Given the description of an element on the screen output the (x, y) to click on. 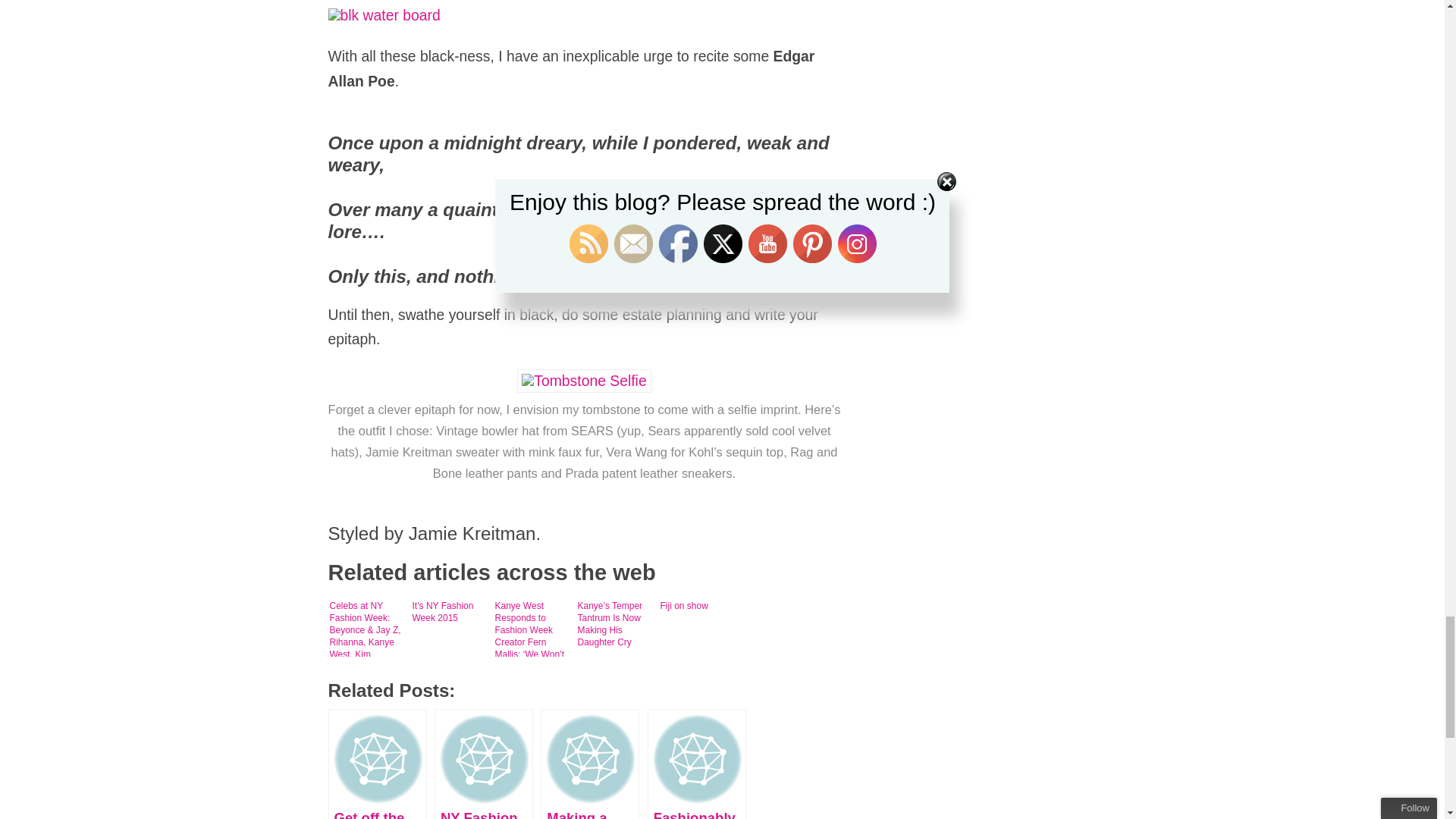
Fashionably frozen at NY Fall Fashion Week (696, 764)
Making a Blanket Statement at Couture Fashion Week 2015 (589, 764)
NY Fashion Week leaves me scribbling (482, 764)
Fiji on show (697, 626)
